Given the description of an element on the screen output the (x, y) to click on. 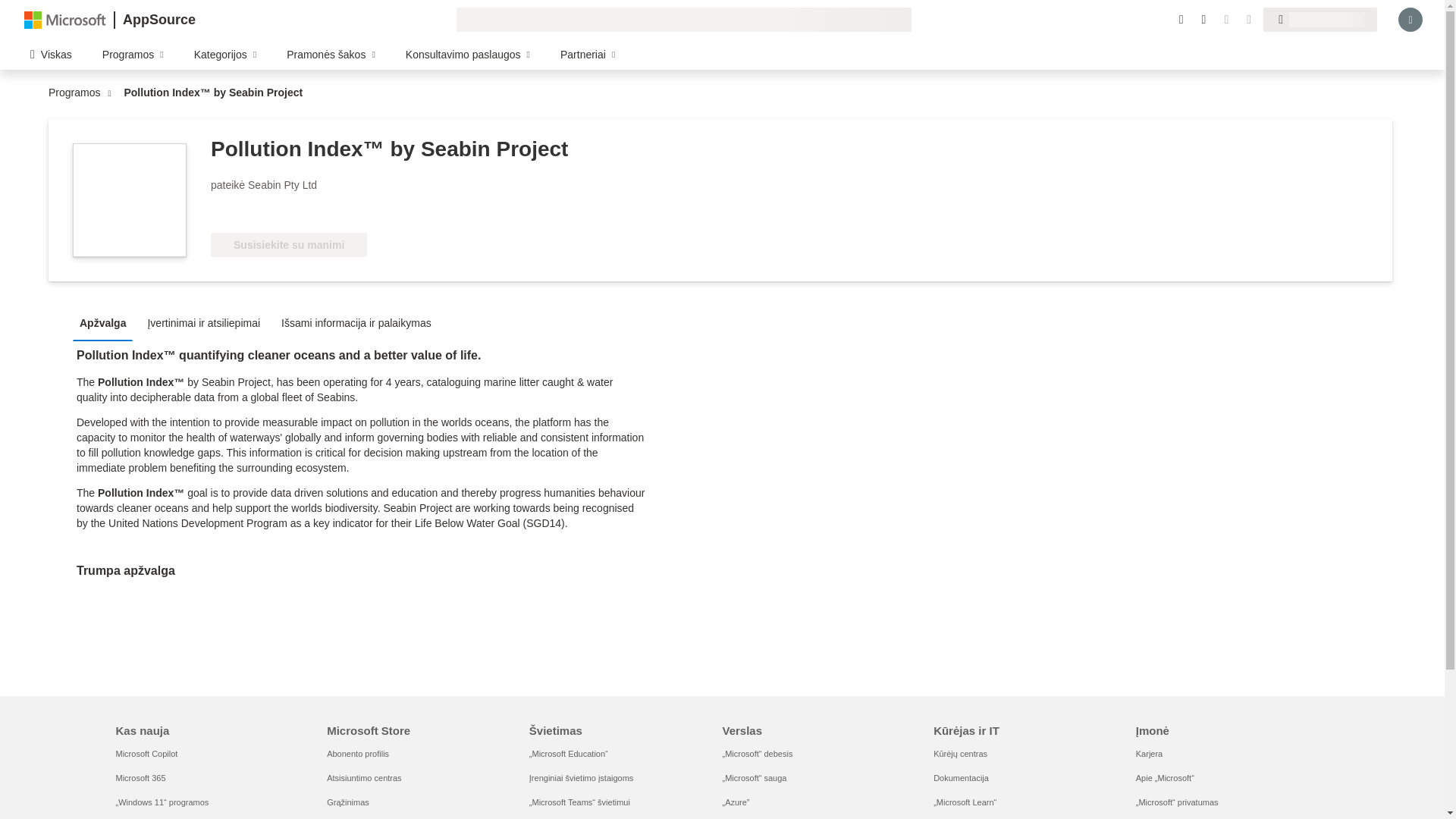
AppSource (158, 19)
Microsoft 365 (140, 777)
Microsoft Copilot (146, 753)
Microsoft (65, 18)
Programos (77, 92)
Susisiekite su manimi (288, 244)
Atsisiuntimo centras (363, 777)
Abonento profilis (357, 753)
